Given the description of an element on the screen output the (x, y) to click on. 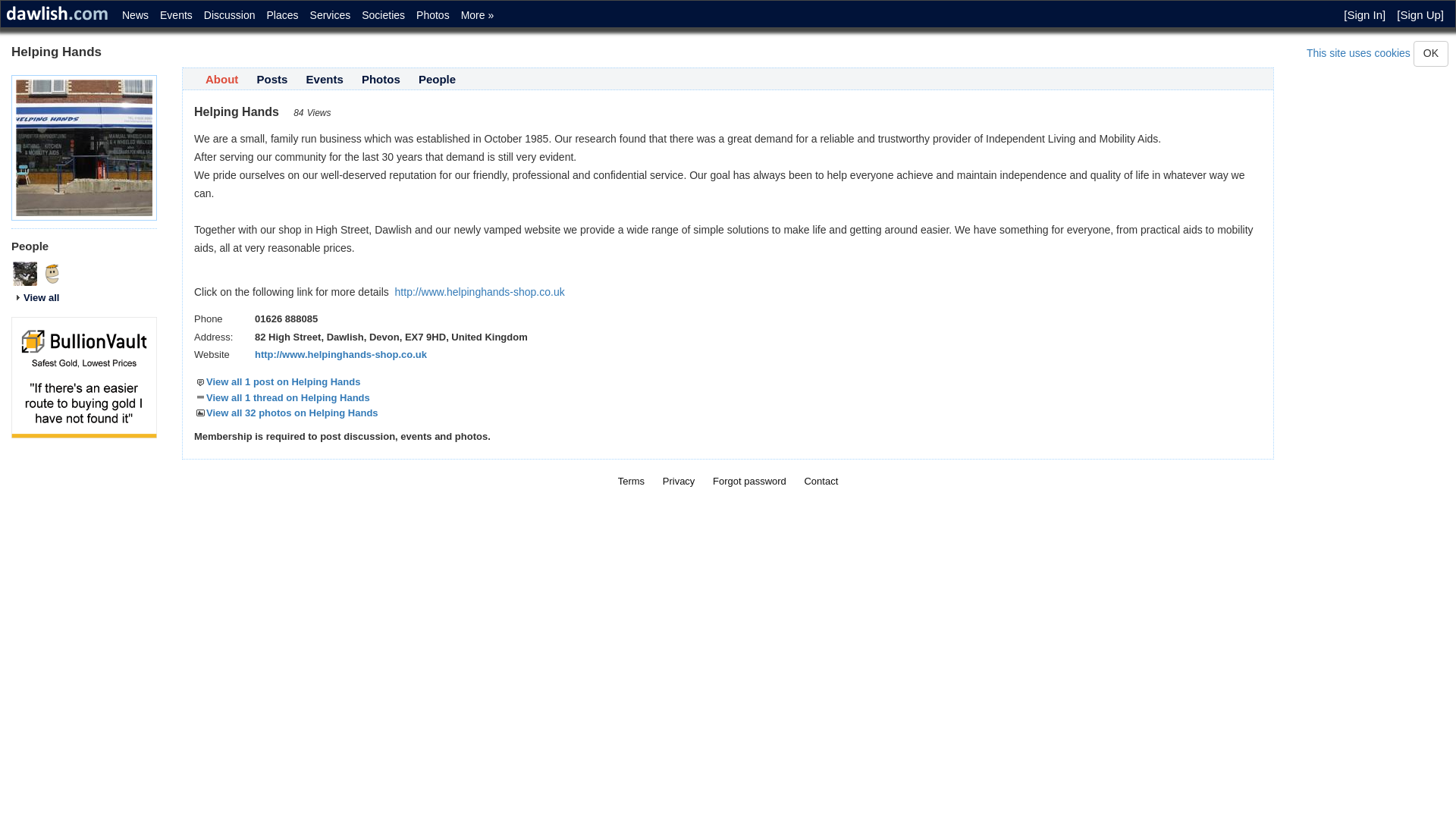
Events (174, 11)
Photos (380, 78)
Helping Hands (52, 273)
About (221, 78)
Forgot password (749, 480)
contact website owners (820, 480)
ZIGGY (25, 273)
Privacy (678, 480)
Helping Hands (84, 147)
View all 1 thread on Helping Hands (281, 397)
News (133, 11)
Posts (271, 78)
View all 32 photos on Helping Hands (285, 412)
Places (280, 11)
Photos (430, 11)
